Given the description of an element on the screen output the (x, y) to click on. 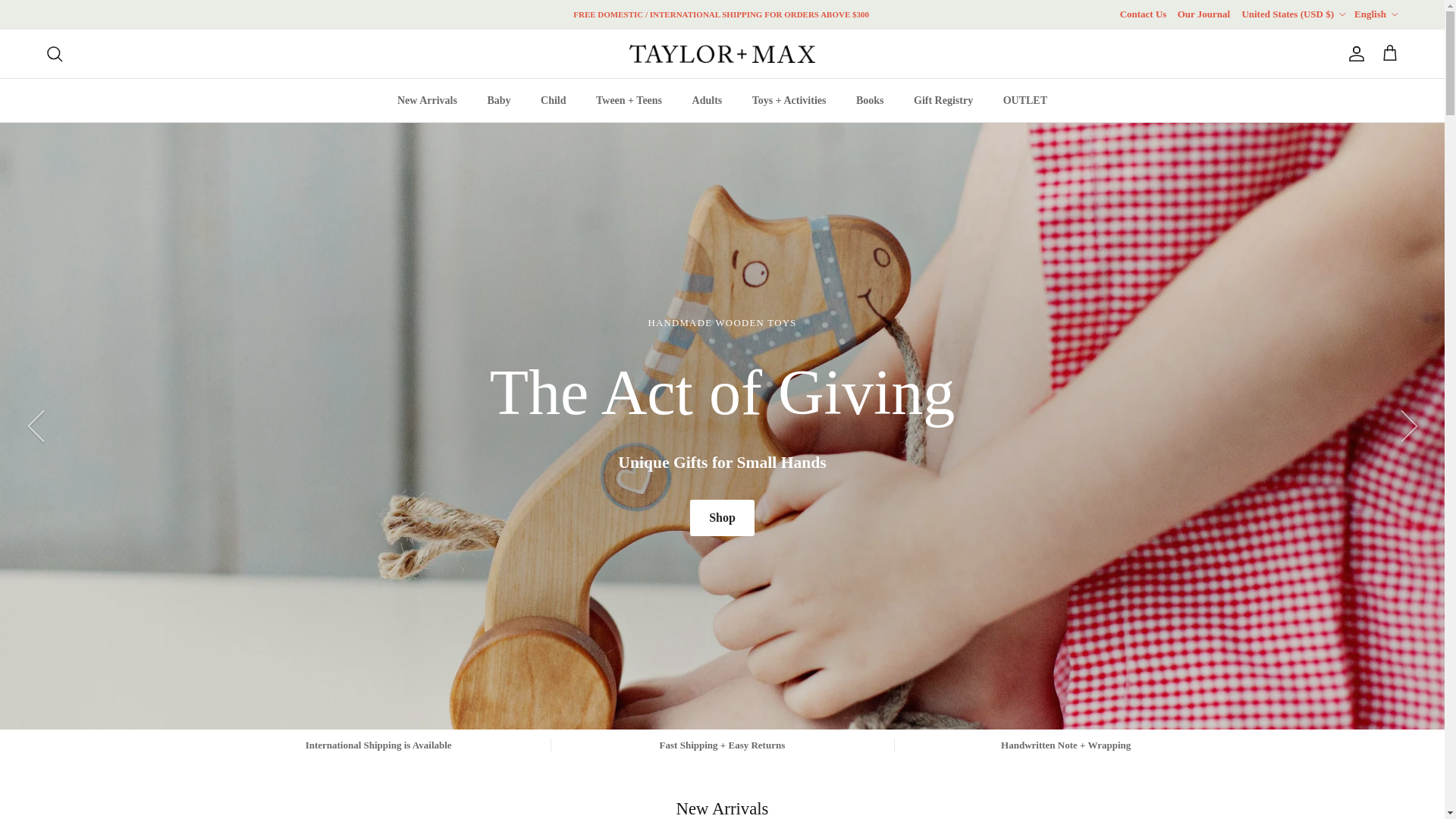
Our Journal (1203, 14)
Account (1352, 54)
Baby (498, 100)
English (1376, 13)
Contact Us (1143, 14)
Cart (1389, 53)
New Arrivals (427, 100)
Search (54, 54)
